Given the description of an element on the screen output the (x, y) to click on. 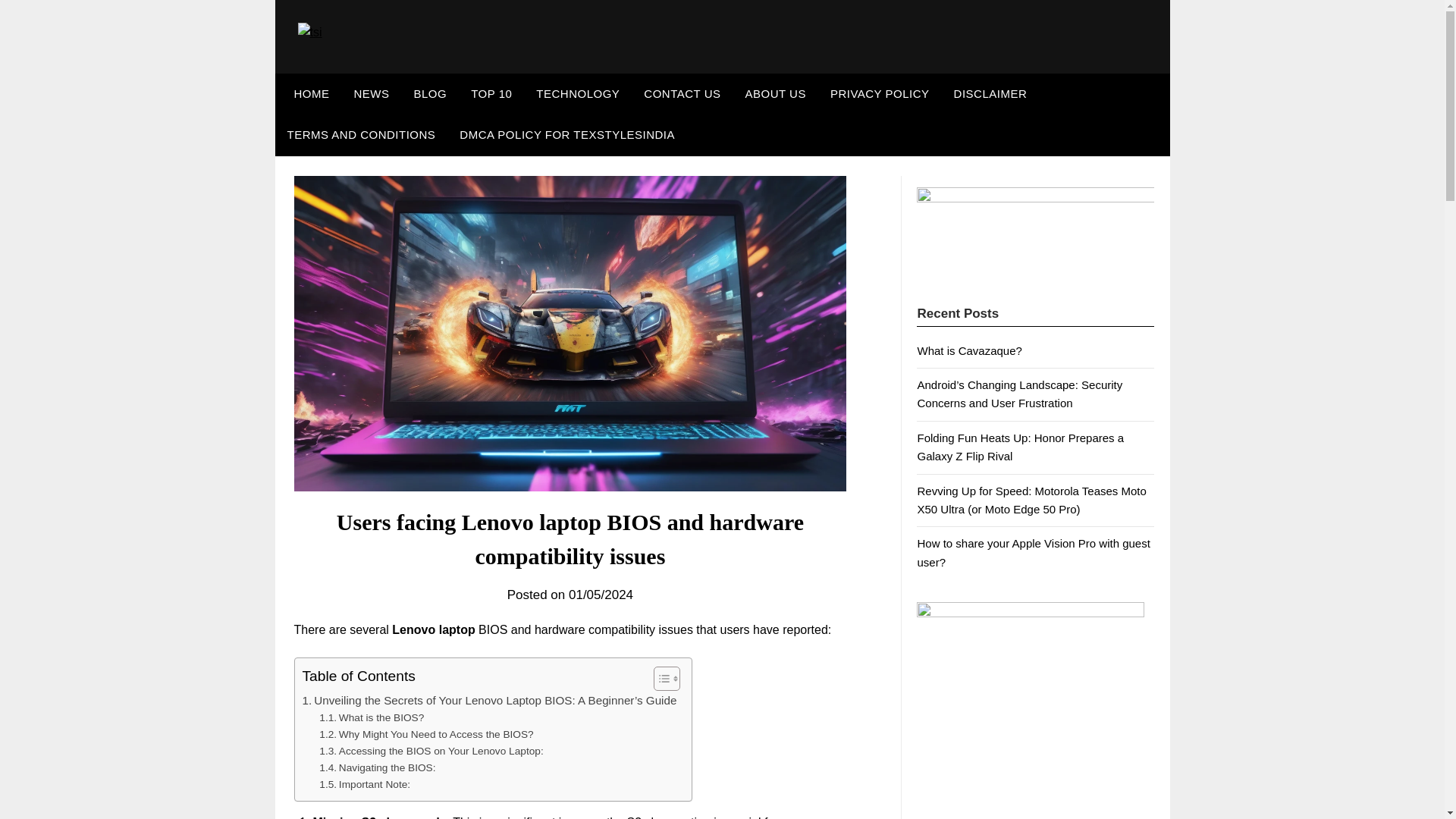
ABOUT US (774, 93)
Why Might You Need to Access the BIOS? (425, 734)
What is Cavazaque? (969, 350)
CONTACT US (681, 93)
TERMS AND CONDITIONS (360, 134)
TOP 10 (491, 93)
What is the BIOS? (370, 718)
NEWS (370, 93)
BLOG (430, 93)
DISCLAIMER (990, 93)
DMCA POLICY FOR TEXSTYLESINDIA (566, 134)
Folding Fun Heats Up: Honor Prepares a Galaxy Z Flip Rival (1020, 446)
How to share your Apple Vision Pro with guest user? (1033, 552)
Why Might You Need to Access the BIOS? (425, 734)
Accessing the BIOS on Your Lenovo Laptop: (430, 751)
